Given the description of an element on the screen output the (x, y) to click on. 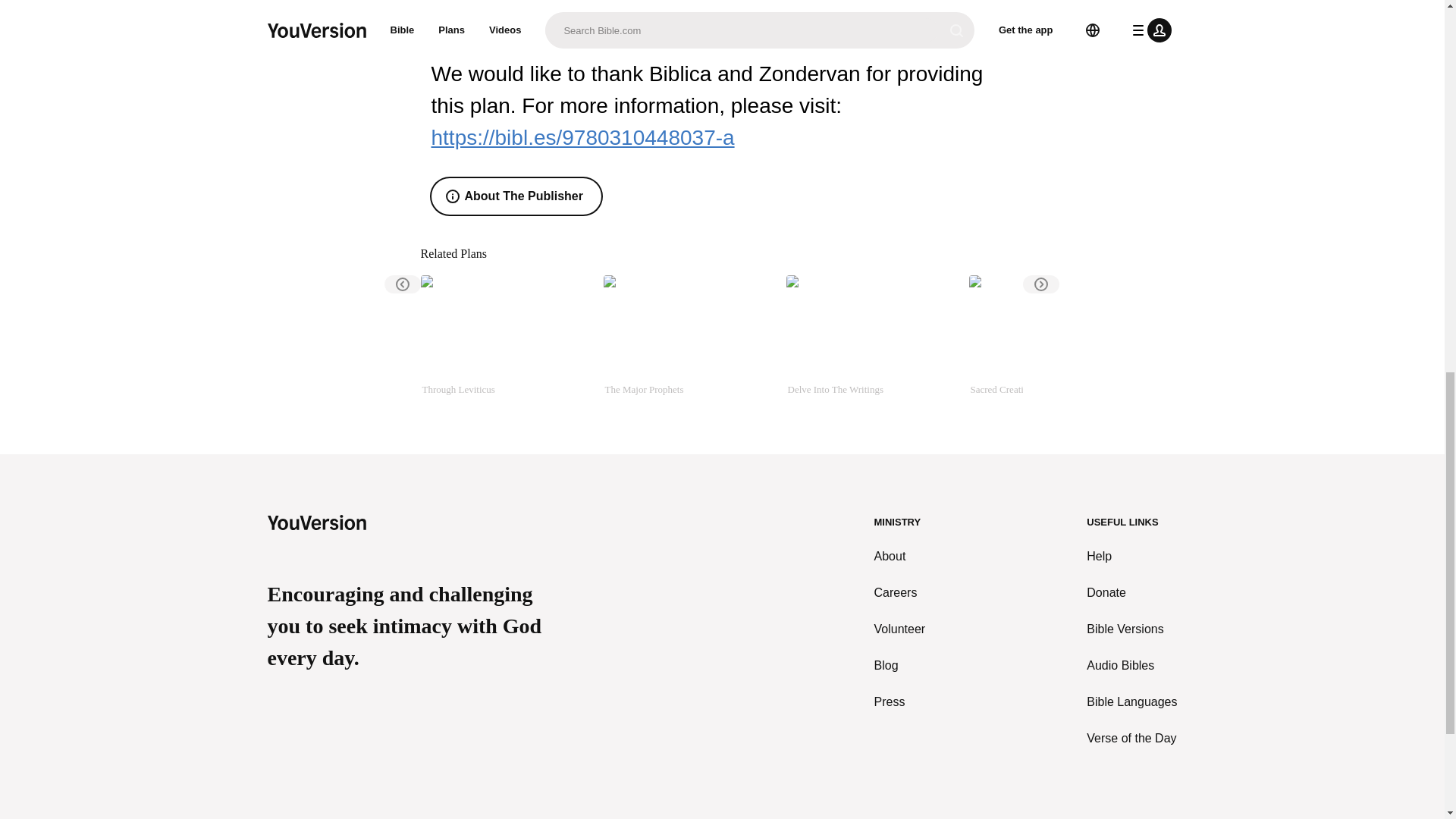
The Major Prophets (689, 343)
Audio Bibles (1131, 665)
Volunteer (900, 628)
Through Leviticus (505, 343)
Careers (900, 592)
About The Publisher (514, 196)
Blog (900, 665)
About (900, 556)
Press (900, 701)
Help (1131, 556)
Bible Languages (1131, 701)
Donate (1131, 592)
Bible Versions (1131, 628)
Verse of the Day (1131, 738)
Sacred Creativity (1054, 343)
